Given the description of an element on the screen output the (x, y) to click on. 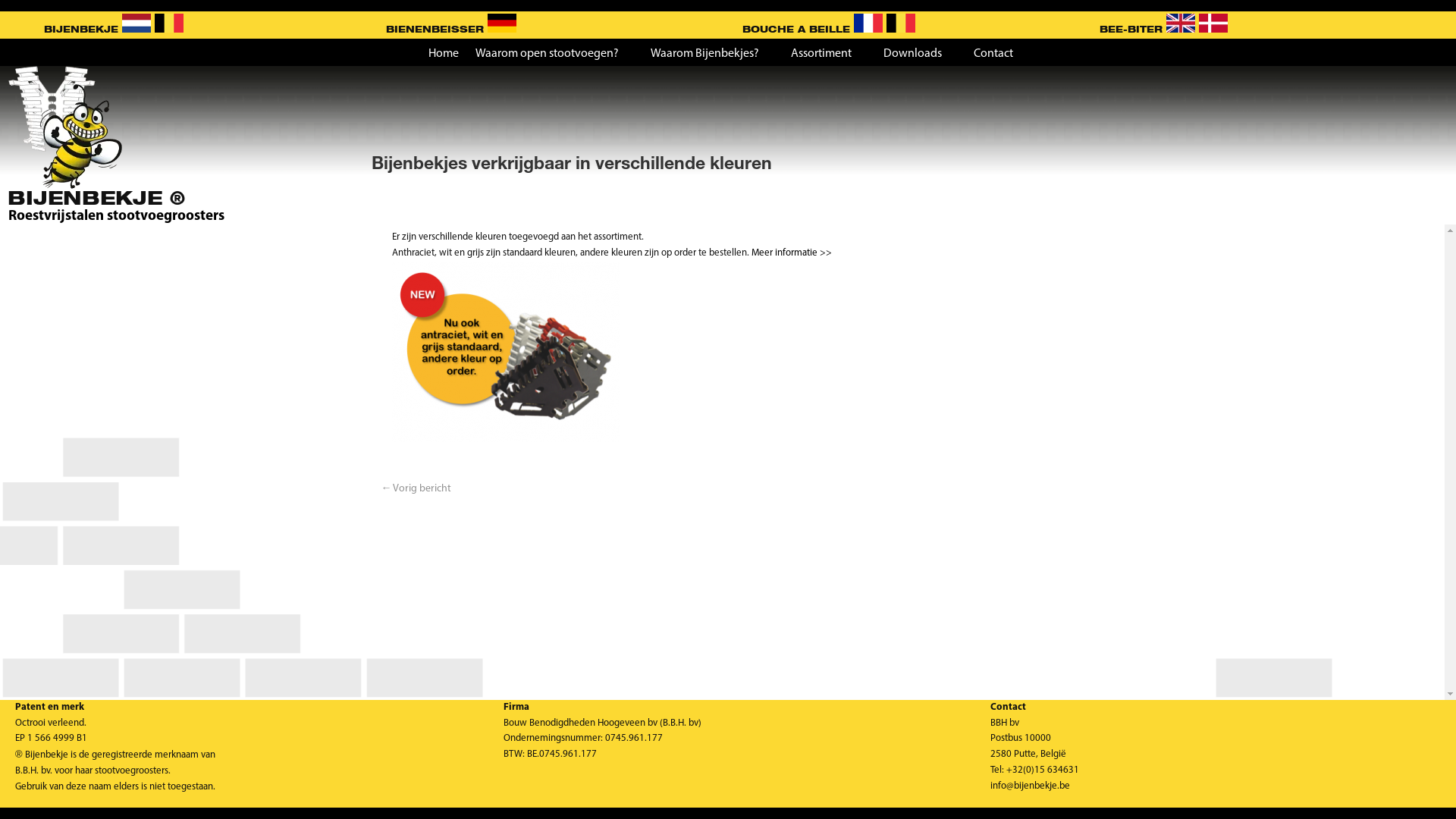
Meer informatie >> Element type: text (791, 252)
Home Element type: text (442, 55)
Waarom open stootvoegen? Element type: text (553, 55)
Downloads Element type: text (919, 55)
Assortiment Element type: text (828, 55)
Contact Element type: text (1000, 55)
Waarom Bijenbekjes? Element type: text (712, 55)
